Given the description of an element on the screen output the (x, y) to click on. 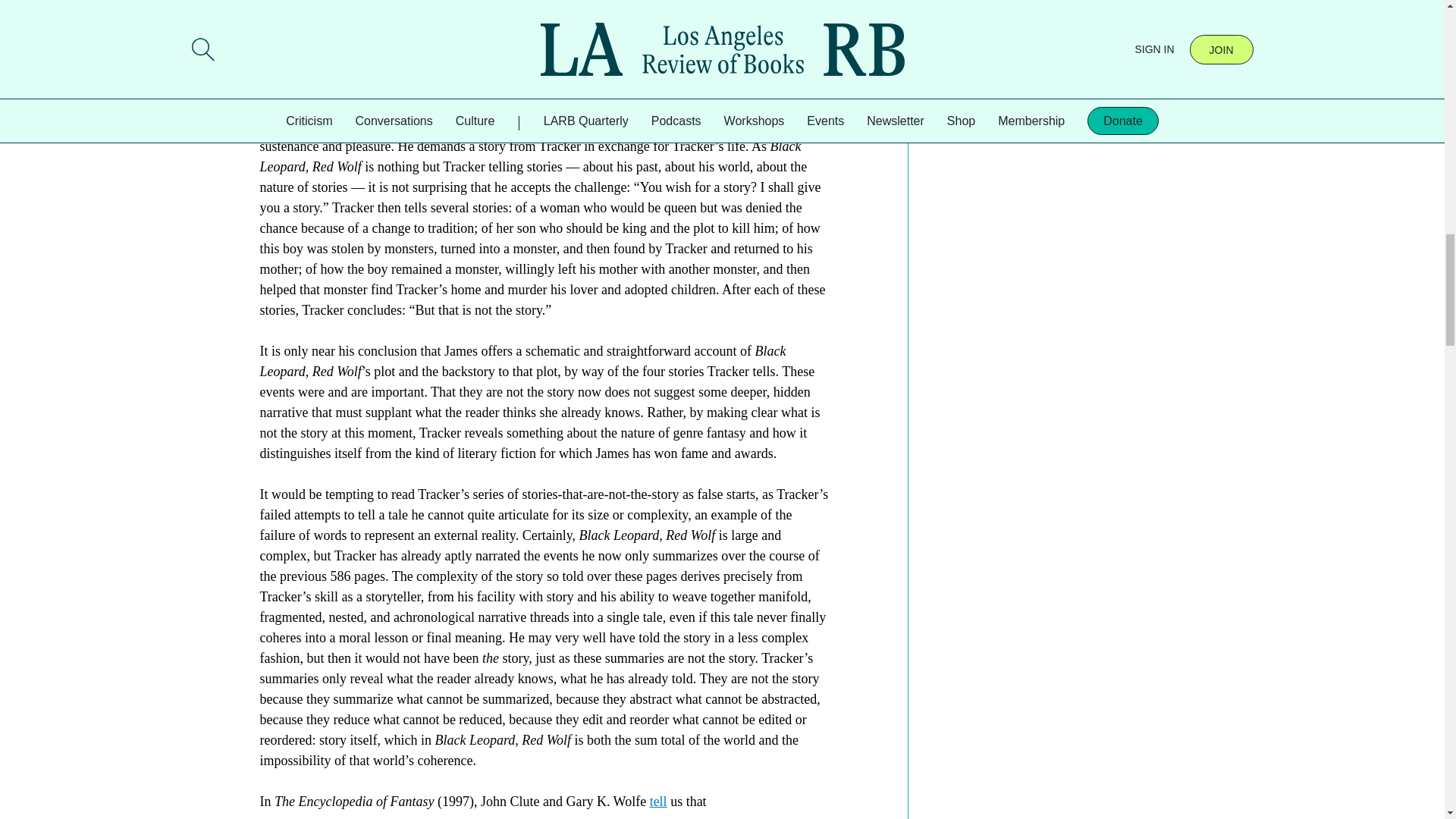
tell (657, 801)
